Given the description of an element on the screen output the (x, y) to click on. 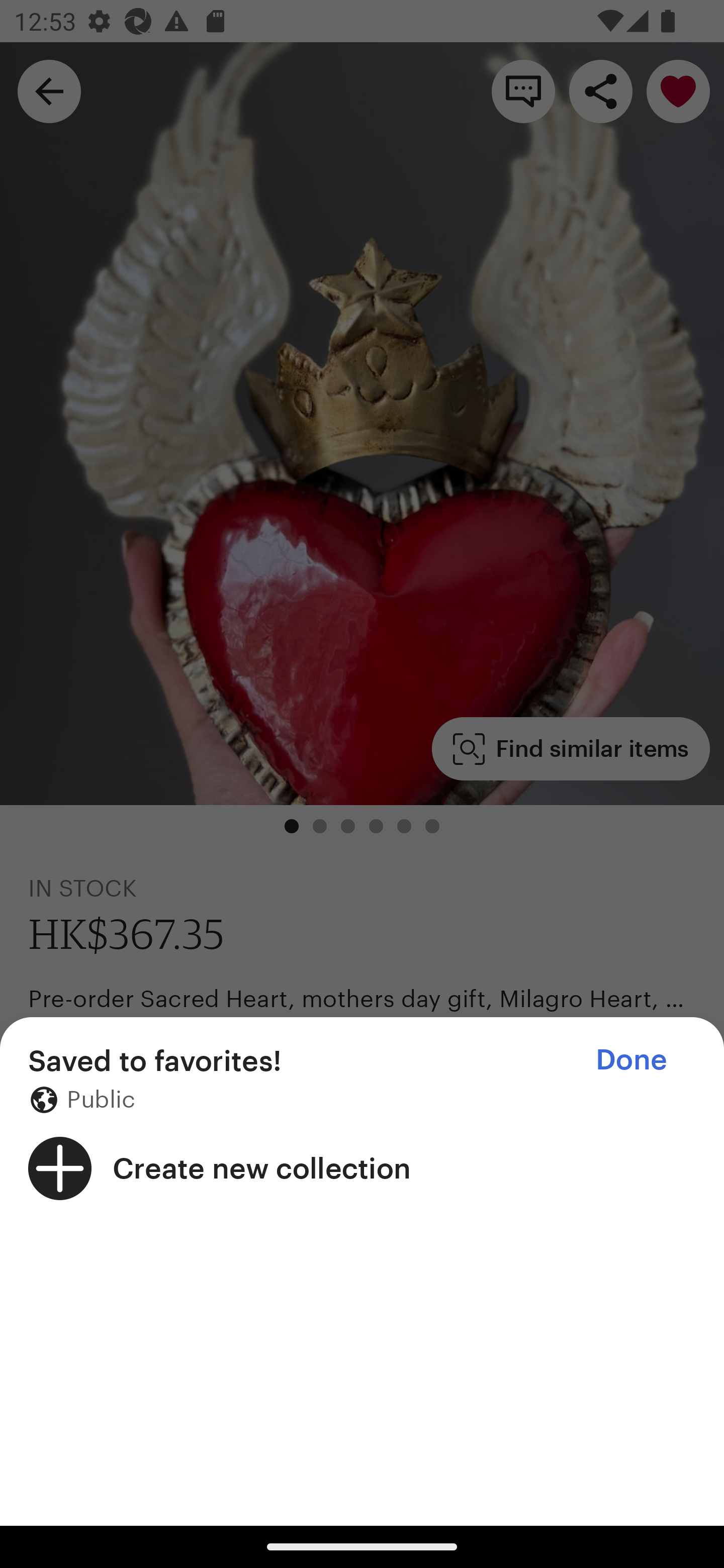
Done (630, 1059)
Create new collection (361, 1167)
